Given the description of an element on the screen output the (x, y) to click on. 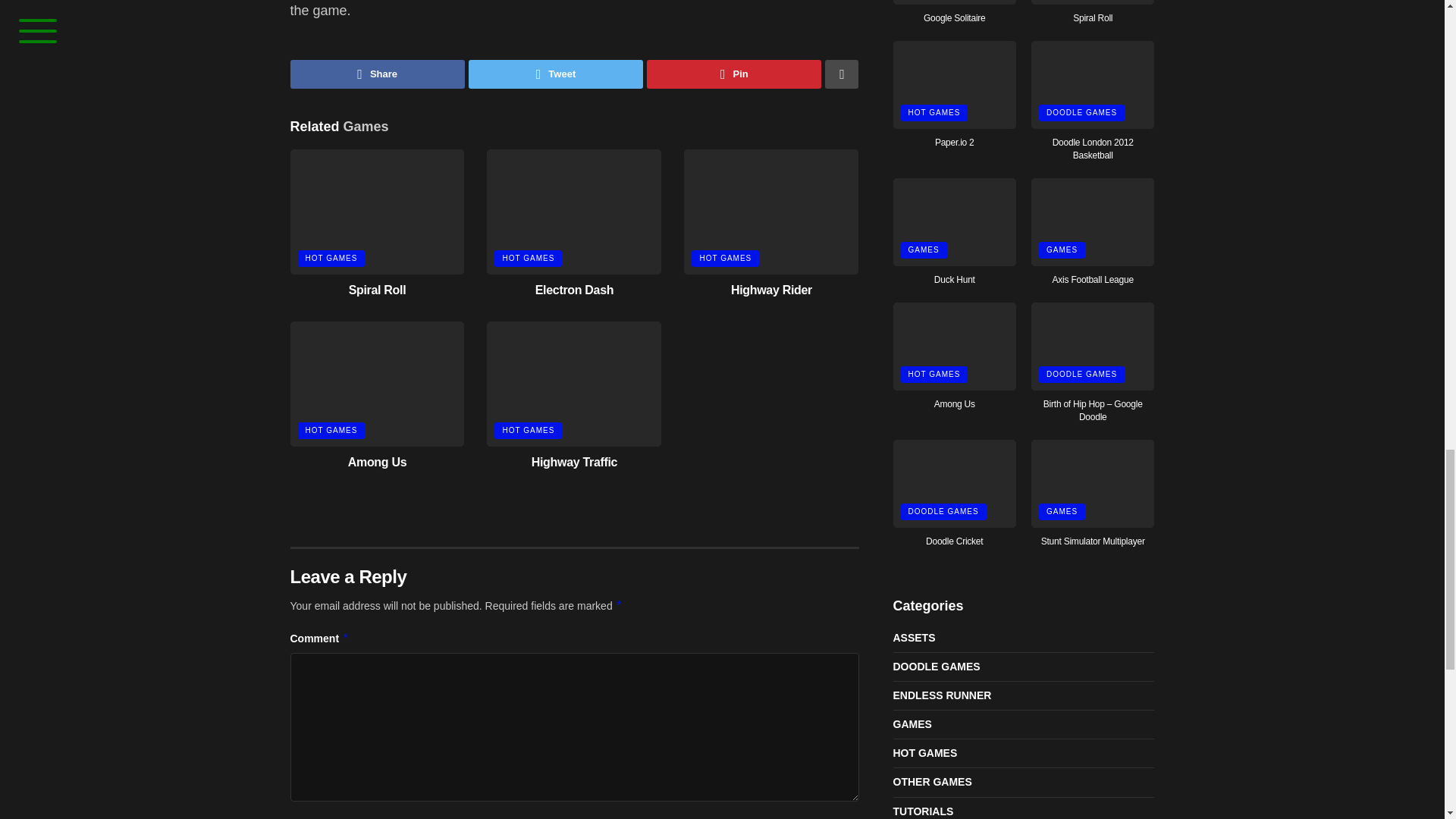
Among Us (376, 461)
Spiral Roll (377, 289)
Highway Rider (771, 289)
HOT GAMES (528, 430)
HOT GAMES (724, 258)
HOT GAMES (331, 258)
Electron Dash (573, 289)
Highway Traffic (574, 461)
HOT GAMES (528, 258)
Share (376, 73)
